Given the description of an element on the screen output the (x, y) to click on. 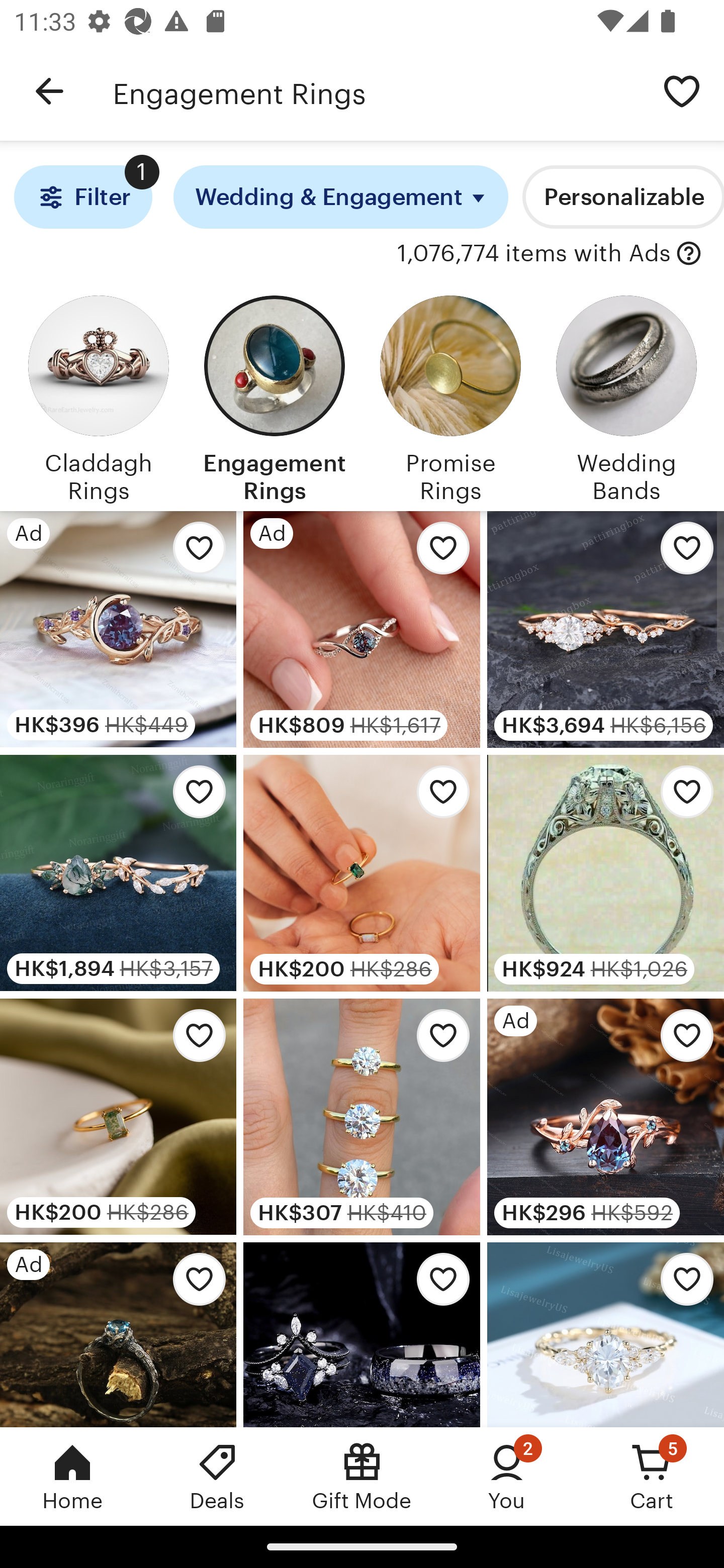
Navigate up (49, 91)
Save search (681, 90)
Engagement Rings (375, 91)
Filter (82, 197)
Wedding & Engagement (340, 197)
Personalizable (623, 197)
1,076,774 items with Ads (534, 253)
with Ads (688, 253)
Claddagh Rings (97, 395)
Engagement Rings (273, 395)
Promise Rings (449, 395)
Wedding Bands (625, 395)
Deals (216, 1475)
Gift Mode (361, 1475)
You, 2 new notifications You (506, 1475)
Cart, 5 new notifications Cart (651, 1475)
